Given the description of an element on the screen output the (x, y) to click on. 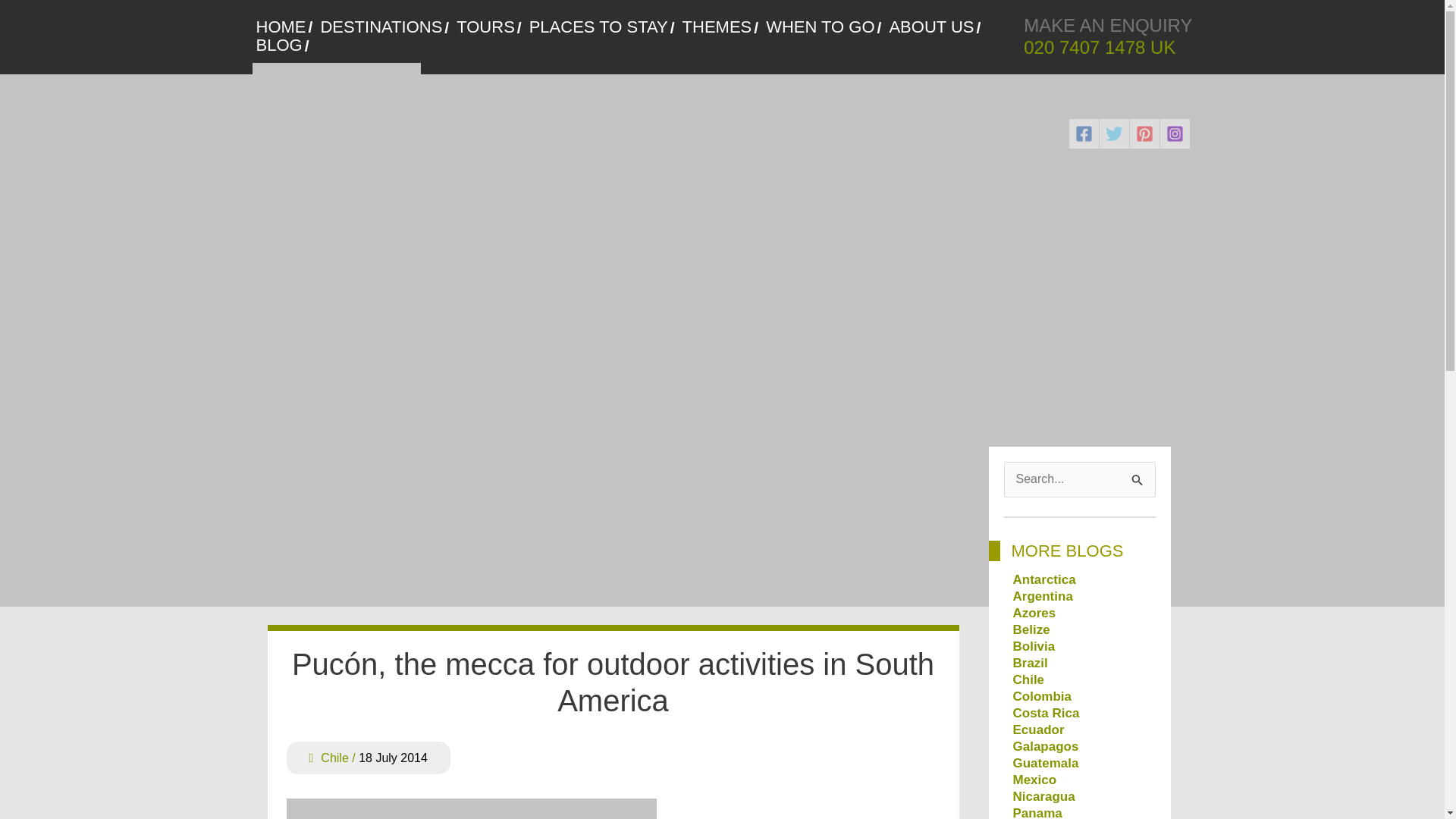
Search (1137, 477)
HOME (283, 27)
TOURS (488, 27)
DESTINATIONS (383, 27)
Search (1137, 477)
